Given the description of an element on the screen output the (x, y) to click on. 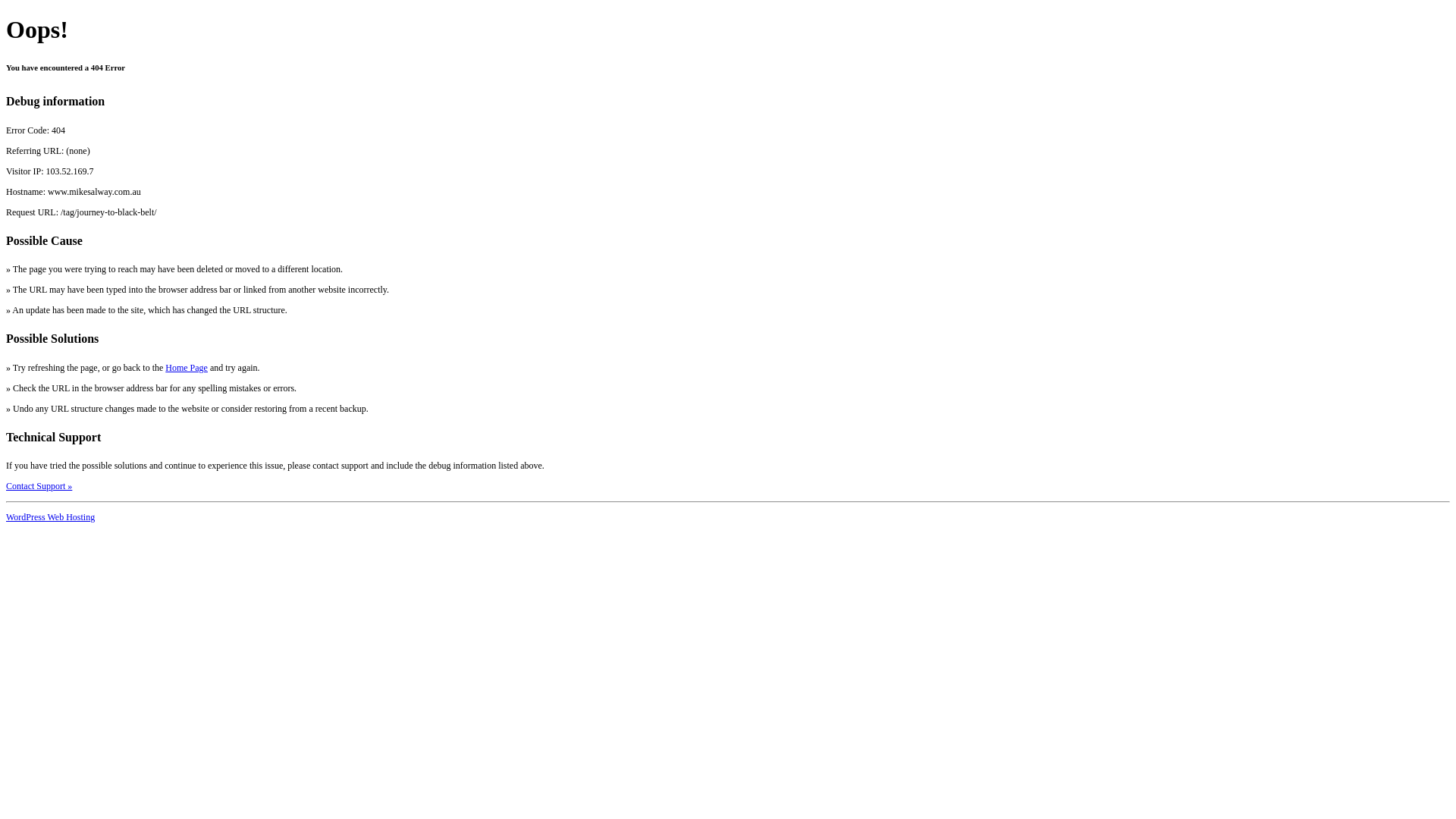
WordPress Web Hosting Element type: text (50, 516)
Home Page Element type: text (186, 367)
